Given the description of an element on the screen output the (x, y) to click on. 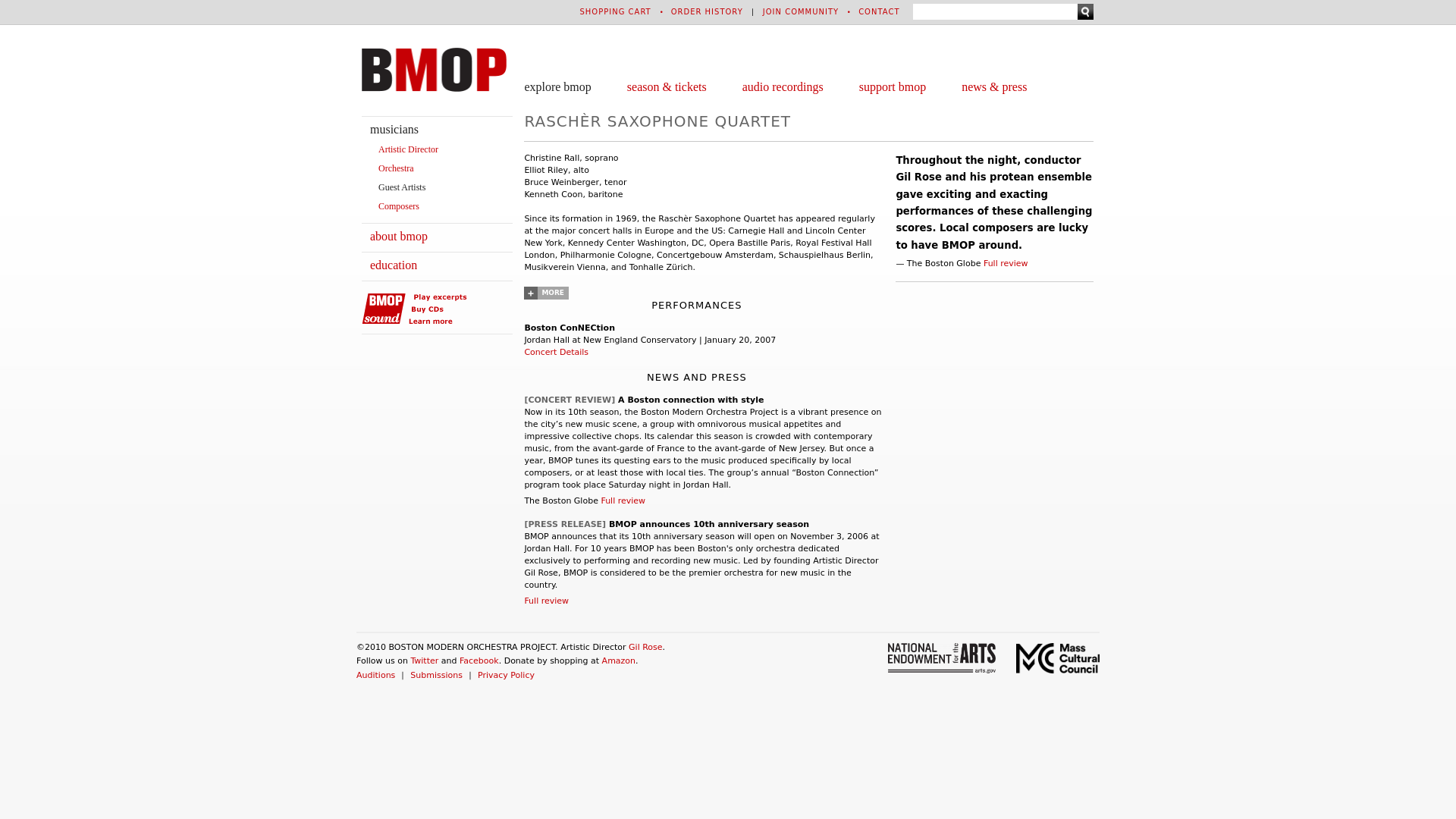
BMOP announces 10th anniversary season (708, 524)
JOIN COMMUNITY (800, 11)
Artistic Director (408, 149)
Gil Rose, Artistic Director (408, 149)
Support BMOP (892, 87)
about bmop (398, 236)
Privacy Policy (505, 675)
Home (433, 69)
audio recordings (783, 87)
CONTACT (879, 11)
A Boston connection with style (689, 399)
Composers (398, 205)
Concert Details (556, 352)
Search (1085, 11)
Boston ConNECtion (569, 327)
